Given the description of an element on the screen output the (x, y) to click on. 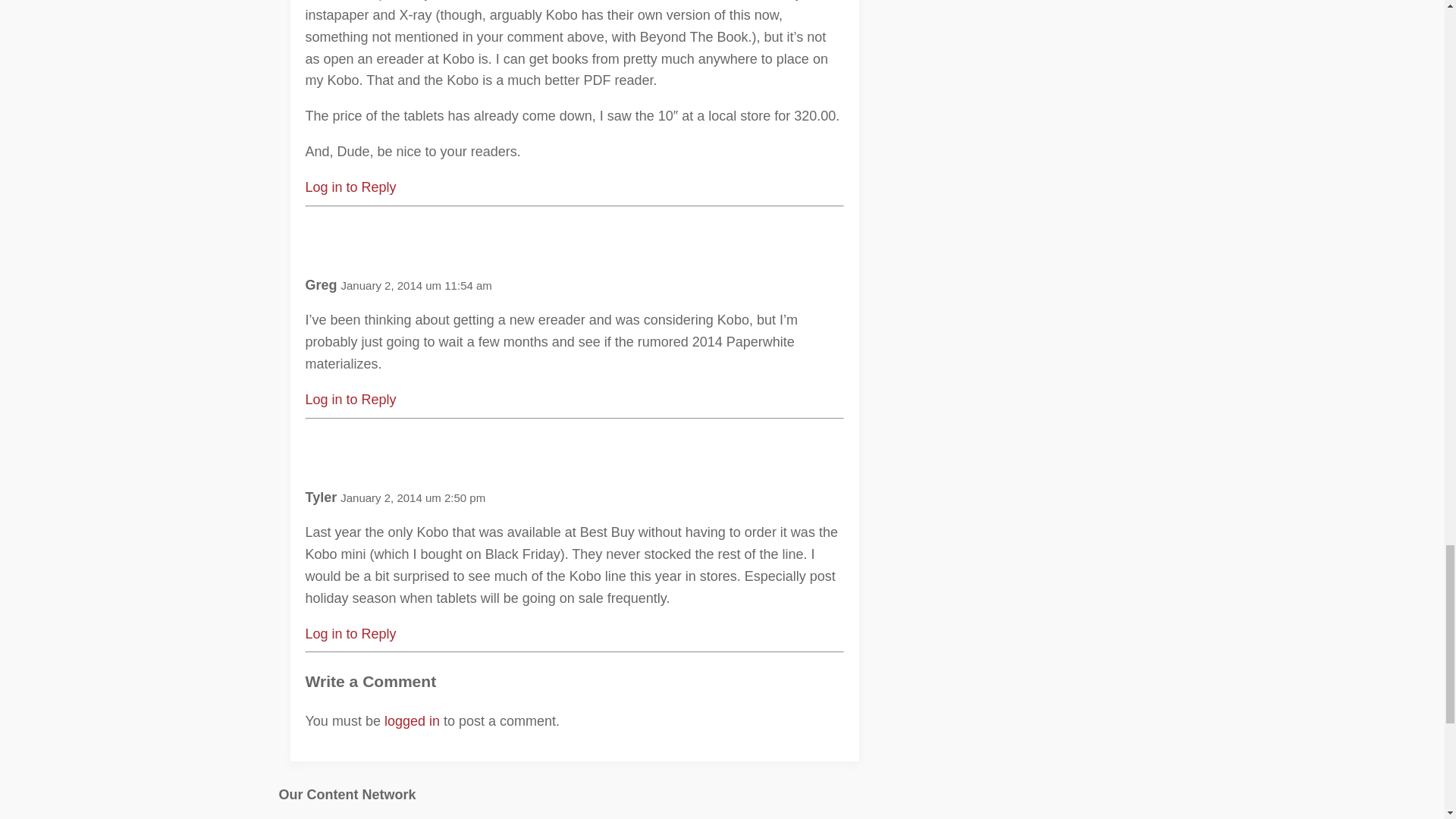
Log in to Reply (350, 399)
logged in (411, 720)
Log in to Reply (350, 186)
Log in to Reply (350, 633)
